Given the description of an element on the screen output the (x, y) to click on. 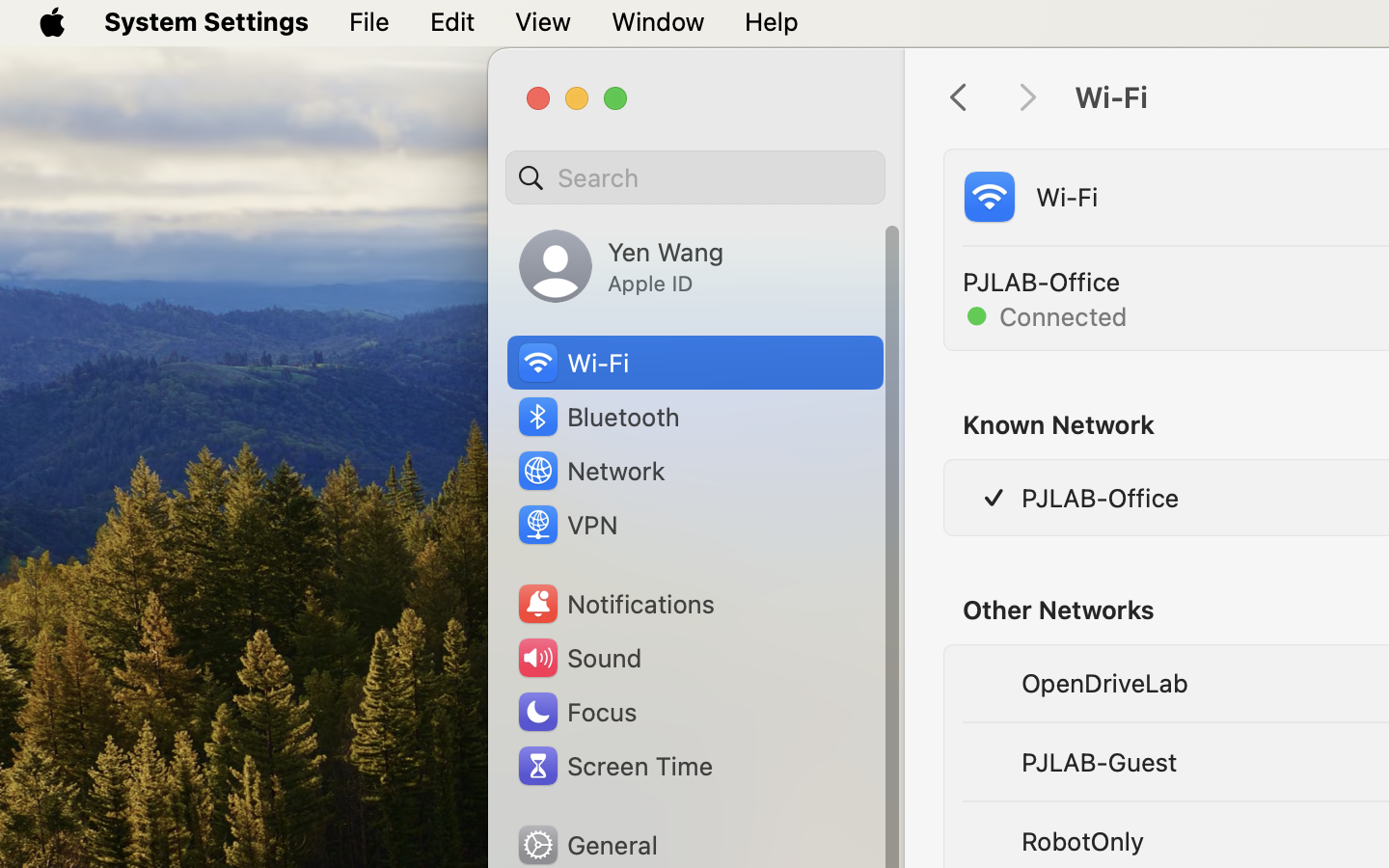
OpenDriveLab Element type: AXStaticText (1103, 682)
Network Element type: AXStaticText (590, 470)
RobotOnly Element type: AXStaticText (1081, 840)
PJLAB-Office Element type: AXStaticText (1099, 497)
Yen Wang, Apple ID Element type: AXStaticText (620, 265)
